Given the description of an element on the screen output the (x, y) to click on. 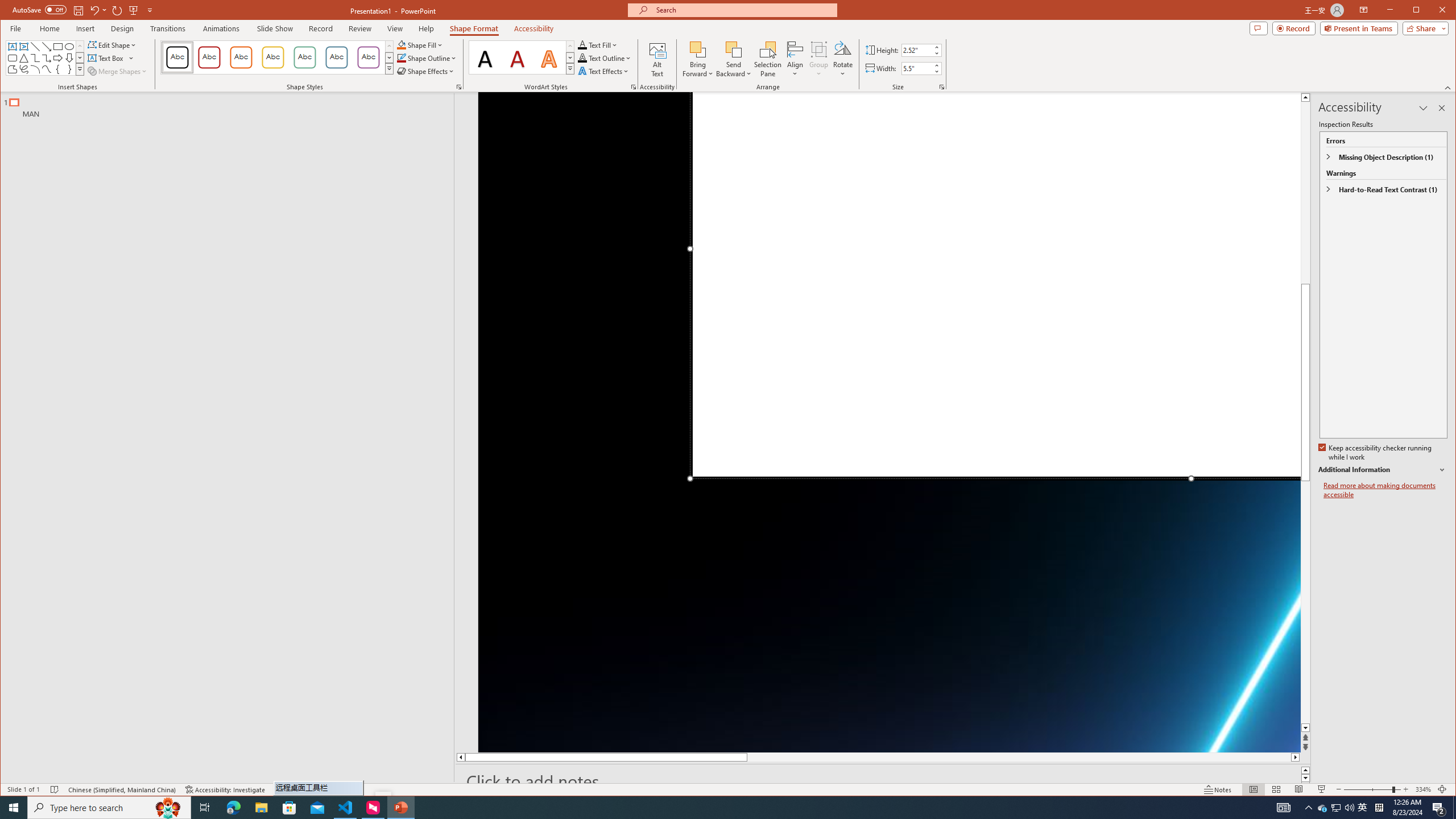
Shape Height (916, 50)
Text Outline RGB(0, 0, 0) (582, 57)
Text Fill RGB(0, 0, 0) (582, 44)
Read more about making documents accessible (1385, 489)
Alt Text (657, 59)
